Given the description of an element on the screen output the (x, y) to click on. 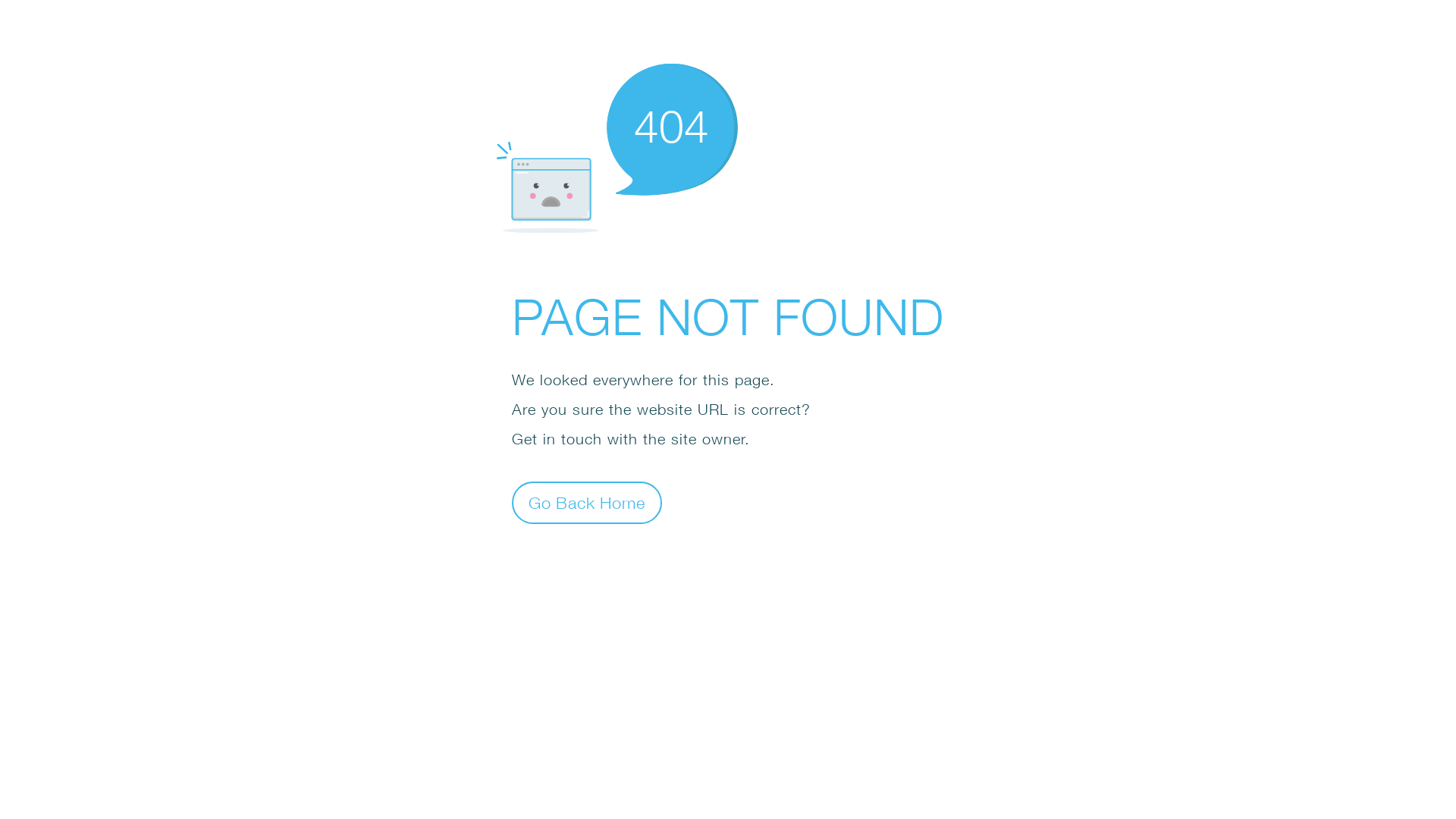
Go Back Home Element type: text (586, 502)
